Given the description of an element on the screen output the (x, y) to click on. 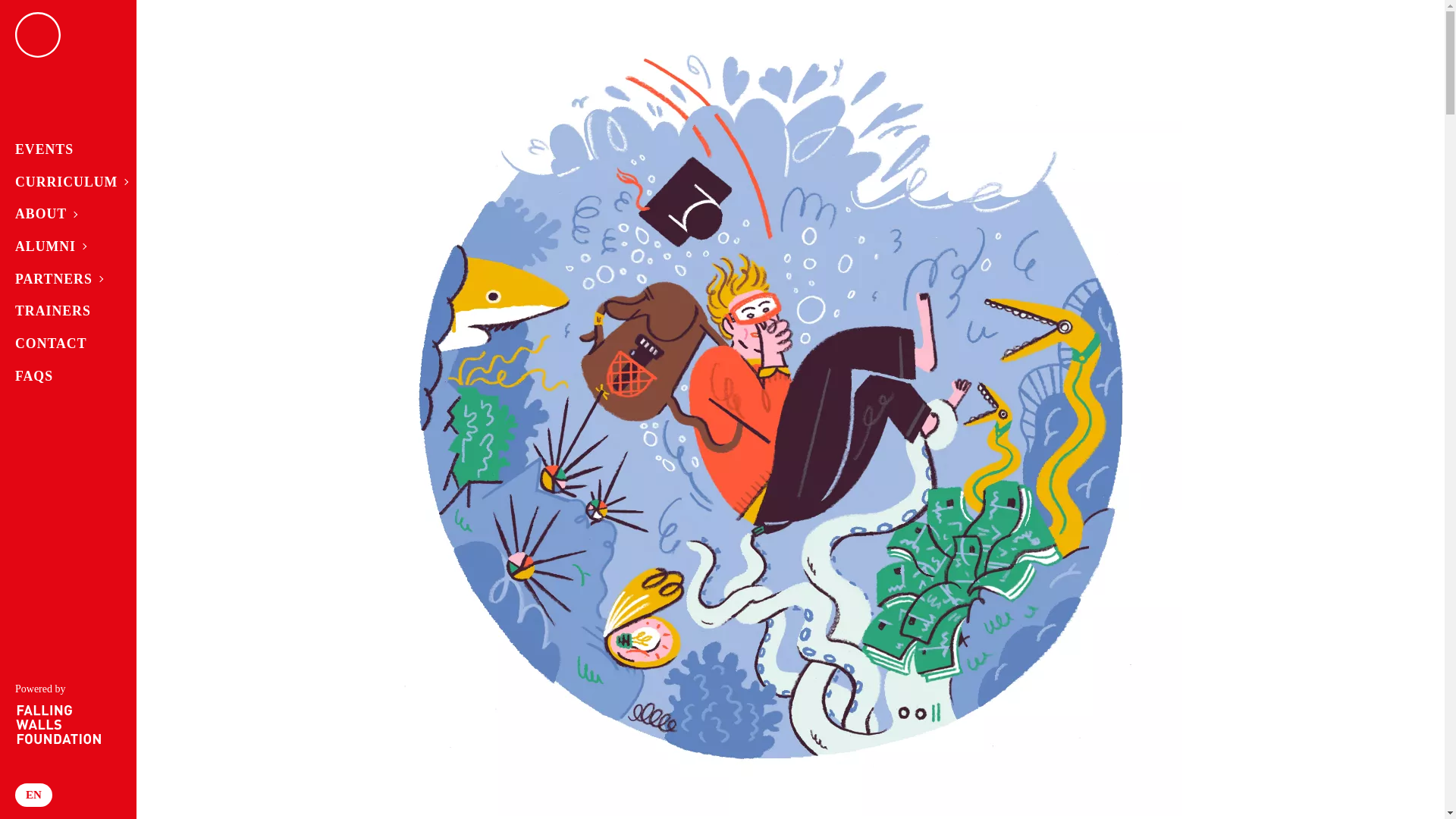
FAQS (61, 376)
Events (61, 149)
ABOUT (61, 214)
PARTNERS (61, 278)
About (61, 214)
Alumni (61, 246)
TRAINERS (61, 310)
ALUMNI (61, 246)
Curriculum (61, 182)
CURRICULUM (61, 182)
